Given the description of an element on the screen output the (x, y) to click on. 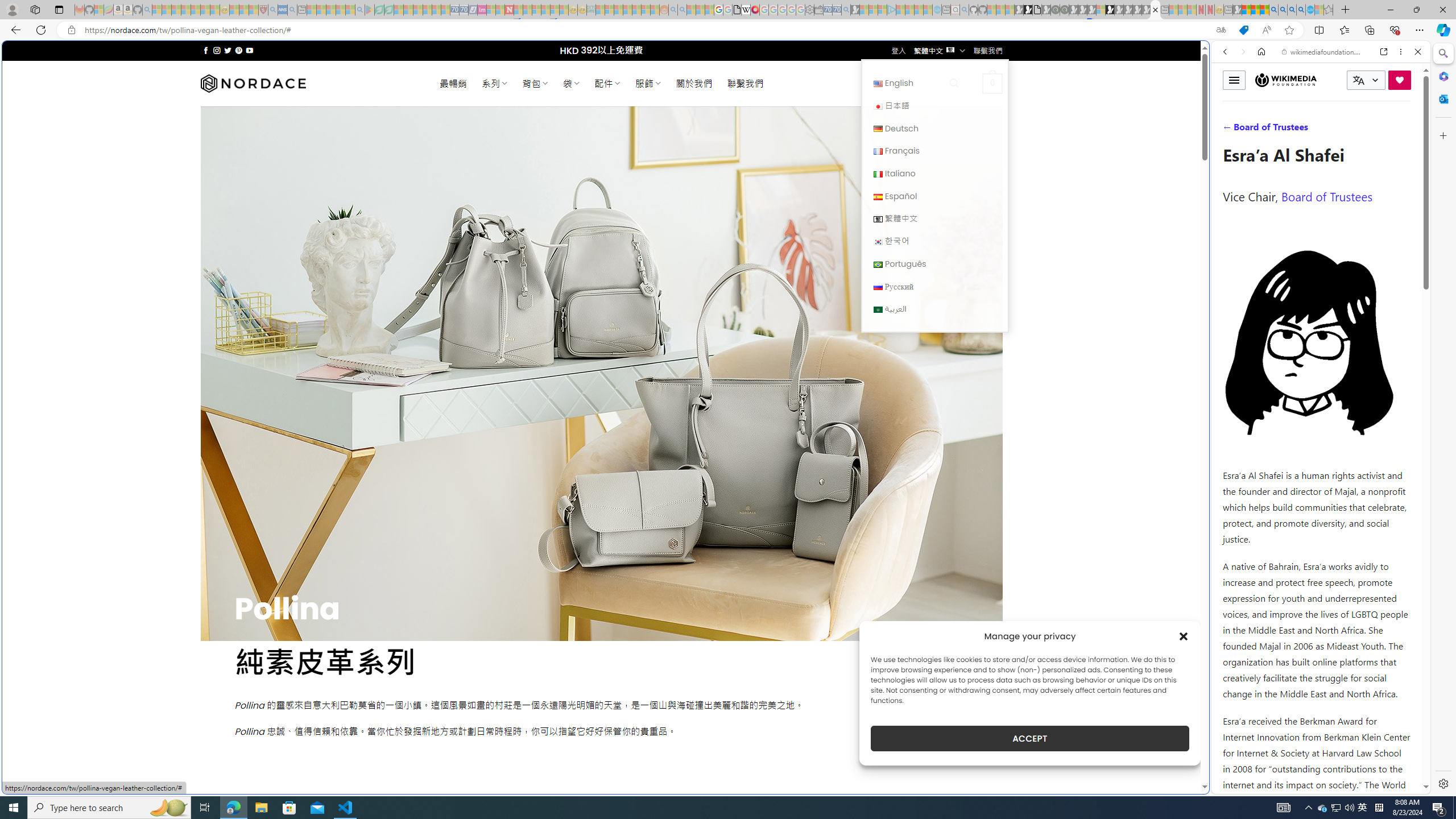
Donate now (1399, 80)
github - Search - Sleeping (964, 9)
Italiano (877, 173)
English English (934, 83)
 English (934, 83)
